Given the description of an element on the screen output the (x, y) to click on. 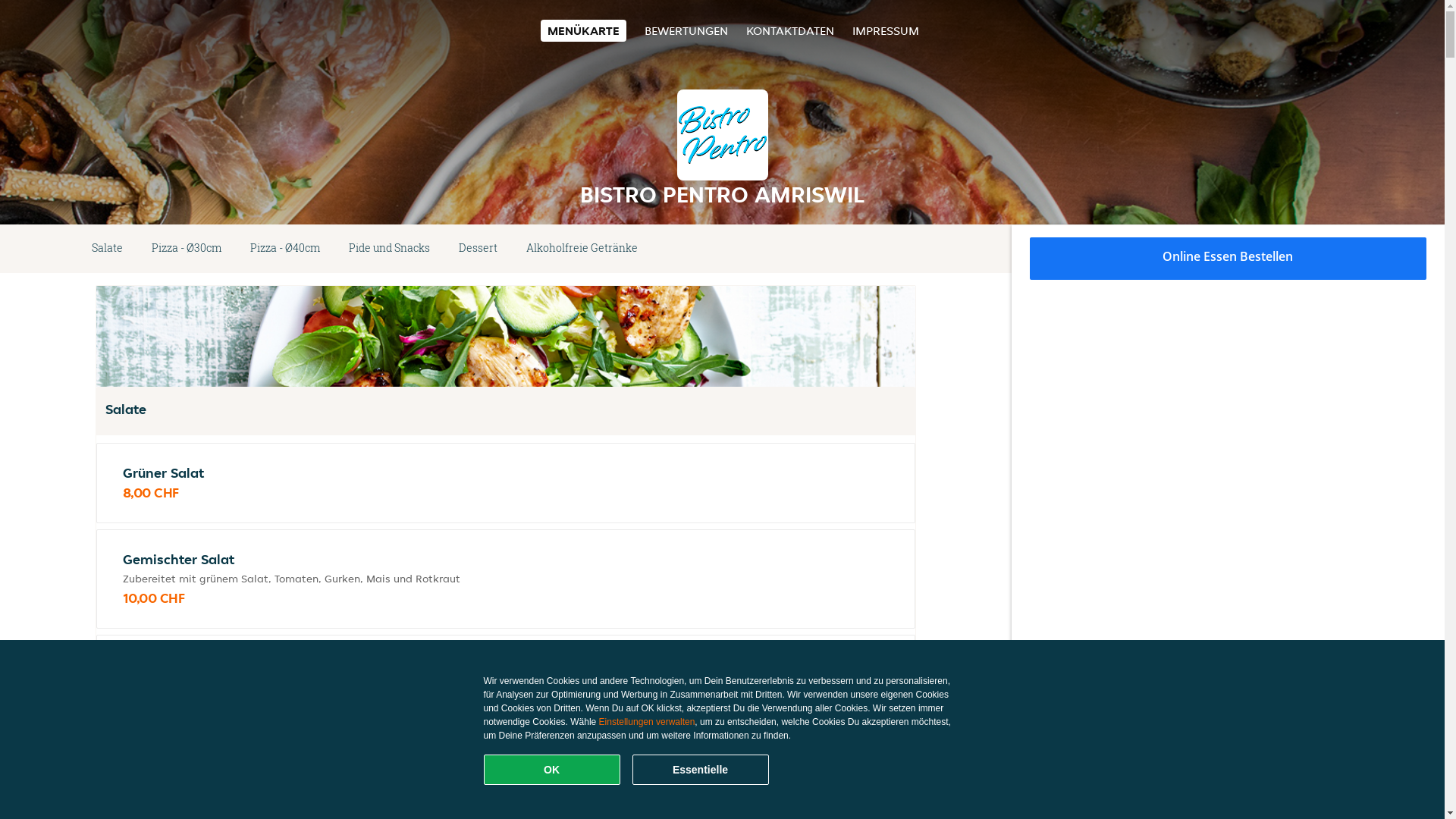
Einstellungen verwalten Element type: text (647, 721)
Salate Element type: text (107, 248)
IMPRESSUM Element type: text (885, 30)
BEWERTUNGEN Element type: text (686, 30)
Online Essen Bestellen Element type: text (1228, 258)
Pide und Snacks Element type: text (389, 248)
OK Element type: text (551, 769)
Dessert Element type: text (477, 248)
KONTAKTDATEN Element type: text (790, 30)
Essentielle Element type: text (700, 769)
Caprese
Zubereitet mit Tomaten und Mozzarella
12,00 CHF Element type: text (505, 684)
